Given the description of an element on the screen output the (x, y) to click on. 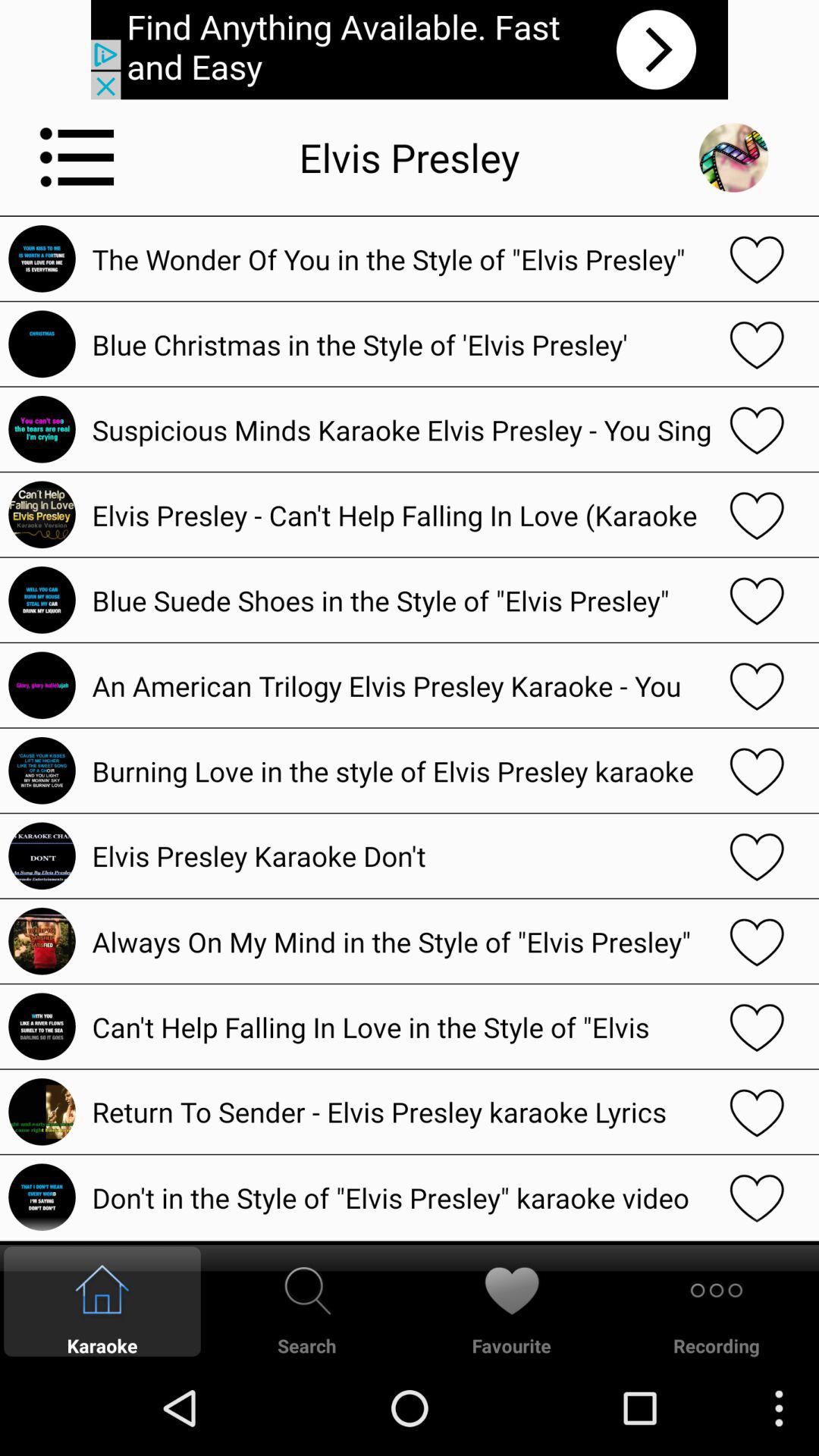
go to your profile (733, 157)
